Given the description of an element on the screen output the (x, y) to click on. 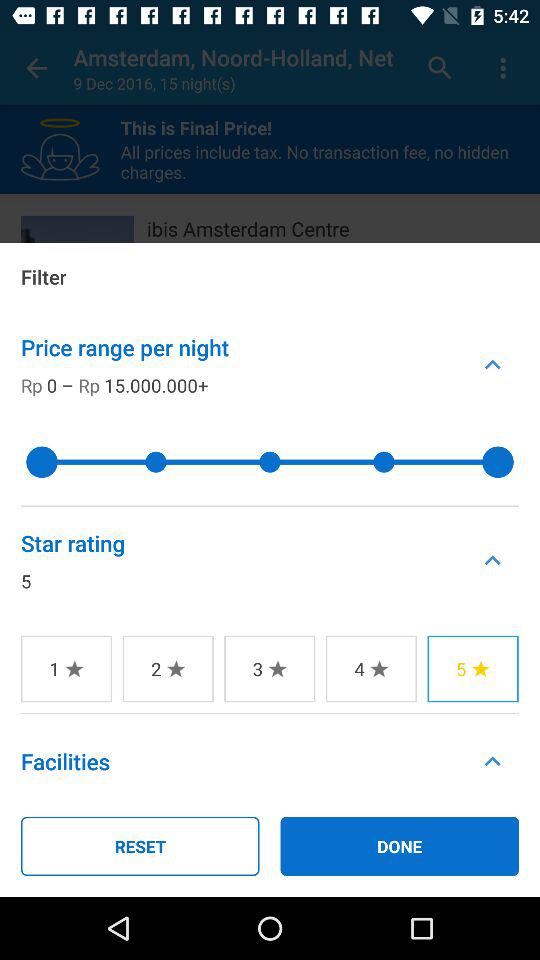
tap done (399, 846)
